Given the description of an element on the screen output the (x, y) to click on. 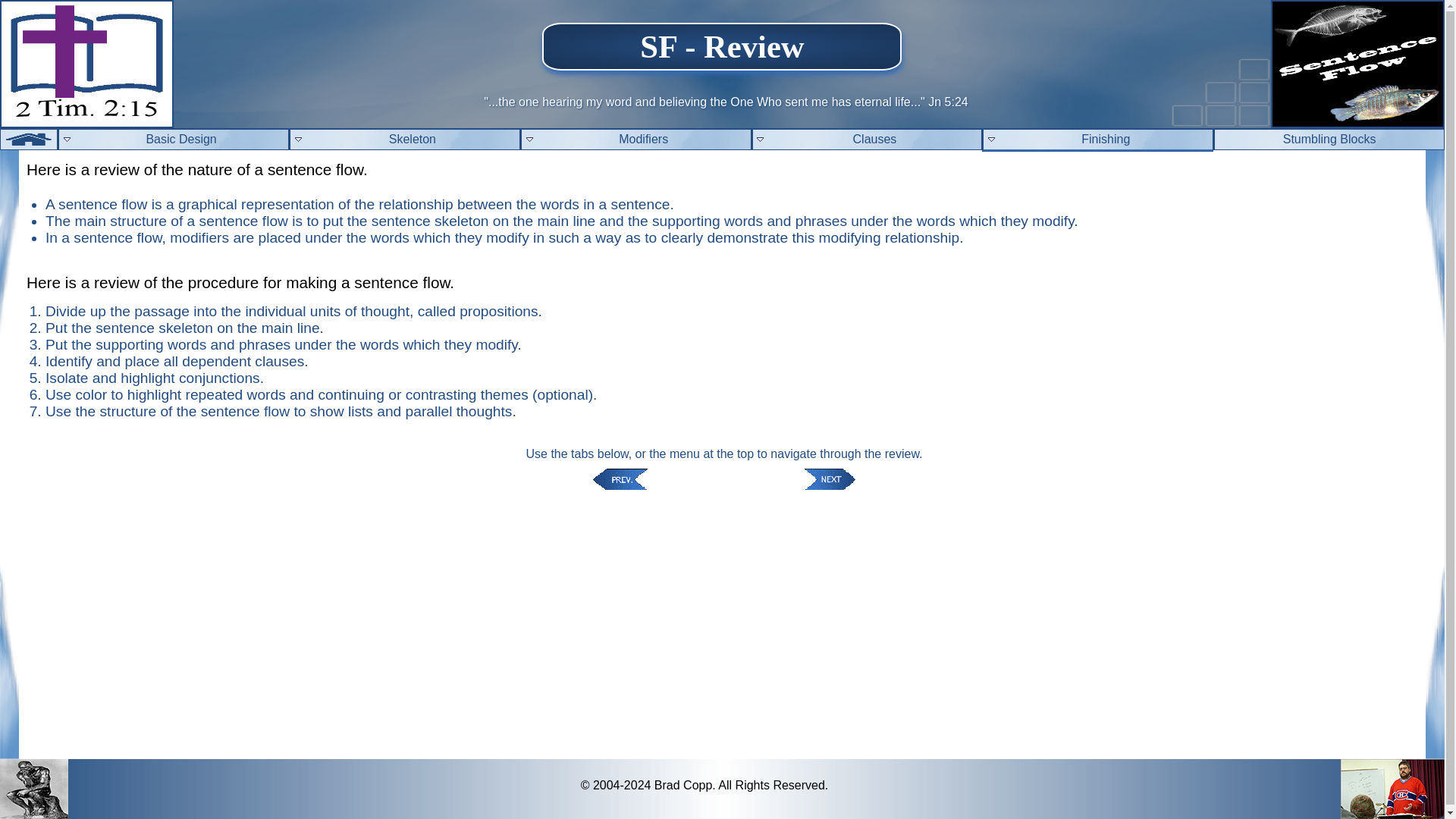
Stumbling Blocks (1329, 139)
